Given the description of an element on the screen output the (x, y) to click on. 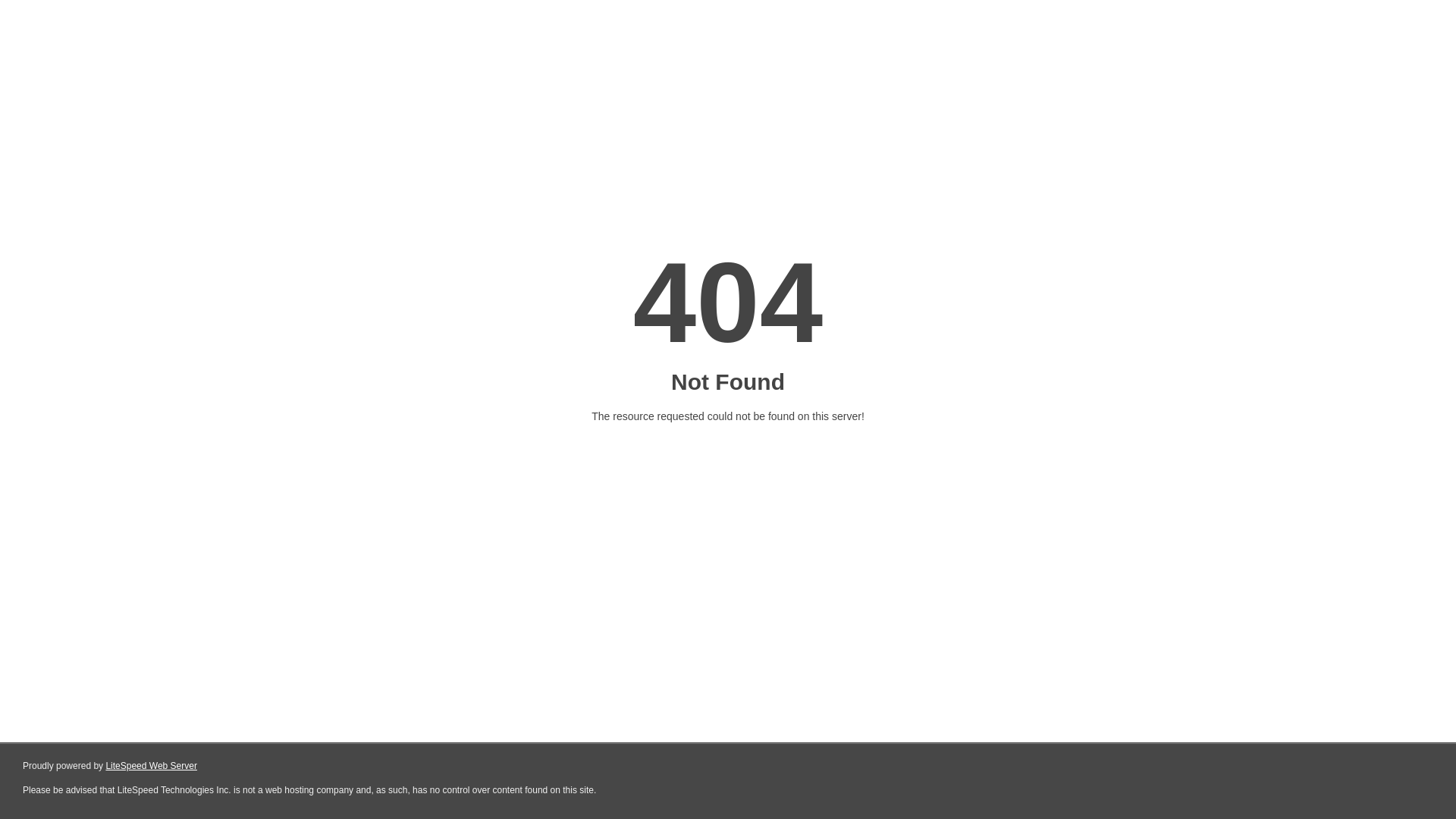
LiteSpeed Web Server Element type: text (151, 765)
